Given the description of an element on the screen output the (x, y) to click on. 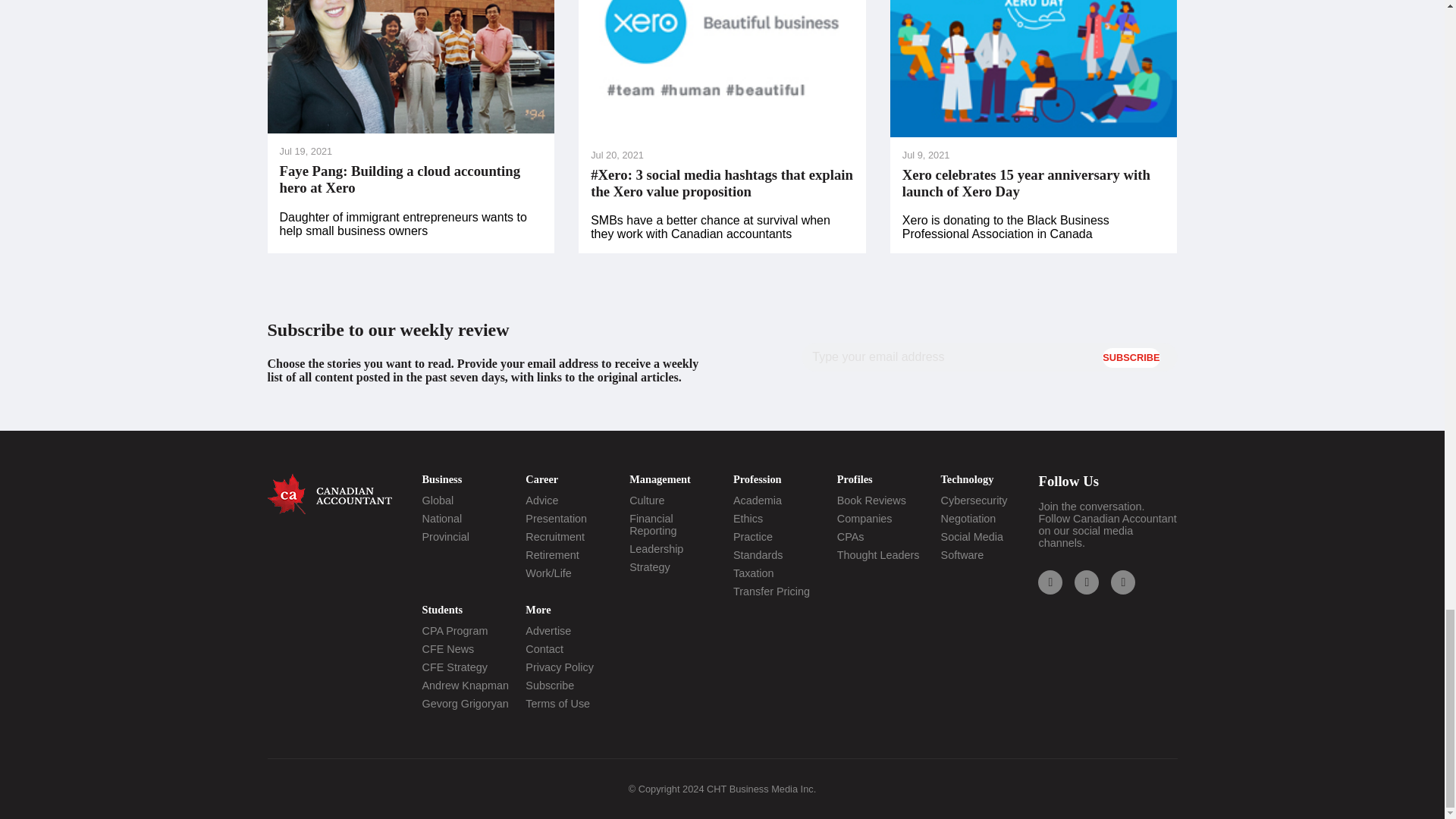
National (441, 518)
Advice (541, 500)
Culture (645, 500)
Global (437, 500)
Provincial (445, 536)
Presentation (555, 518)
Retirement (551, 554)
Recruitment (555, 536)
Financial Reporting (652, 524)
